Given the description of an element on the screen output the (x, y) to click on. 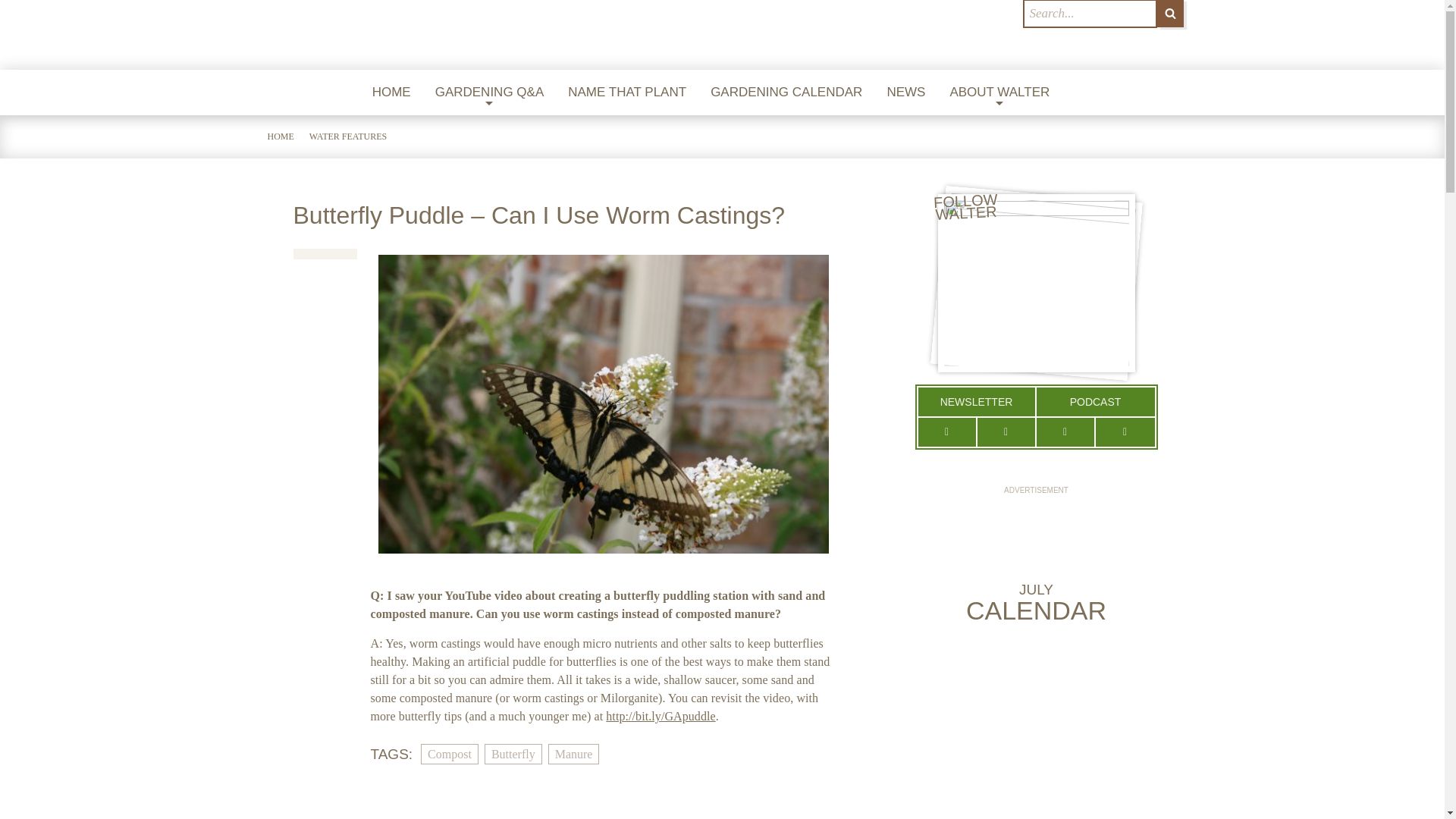
NAME THAT PLANT (627, 92)
HOME (391, 92)
SEARCH (1170, 13)
ABOUT WALTER (999, 92)
GARDENING CALENDAR (786, 92)
NEWS (906, 92)
Search for: (1089, 13)
